Given the description of an element on the screen output the (x, y) to click on. 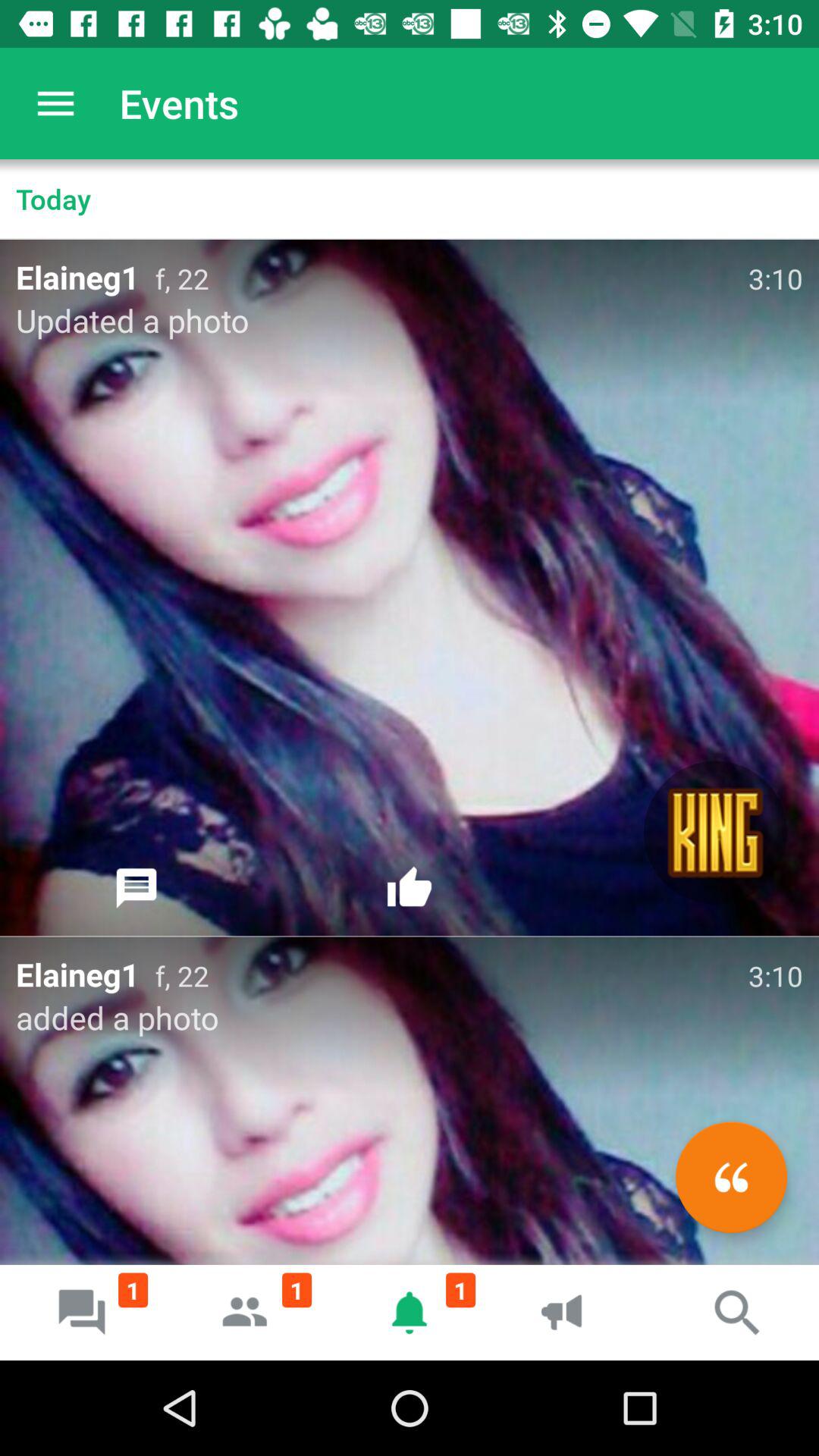
like button (409, 888)
